Given the description of an element on the screen output the (x, y) to click on. 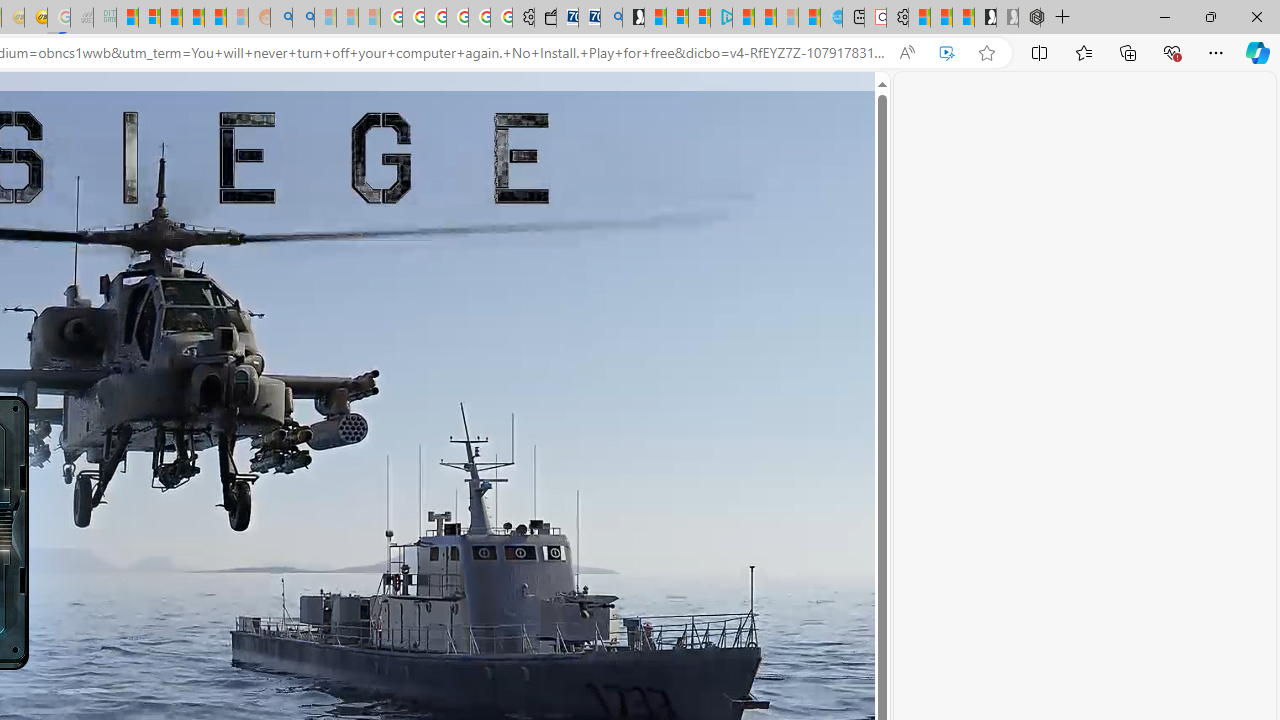
Utah sues federal government - Search (303, 17)
